Given the description of an element on the screen output the (x, y) to click on. 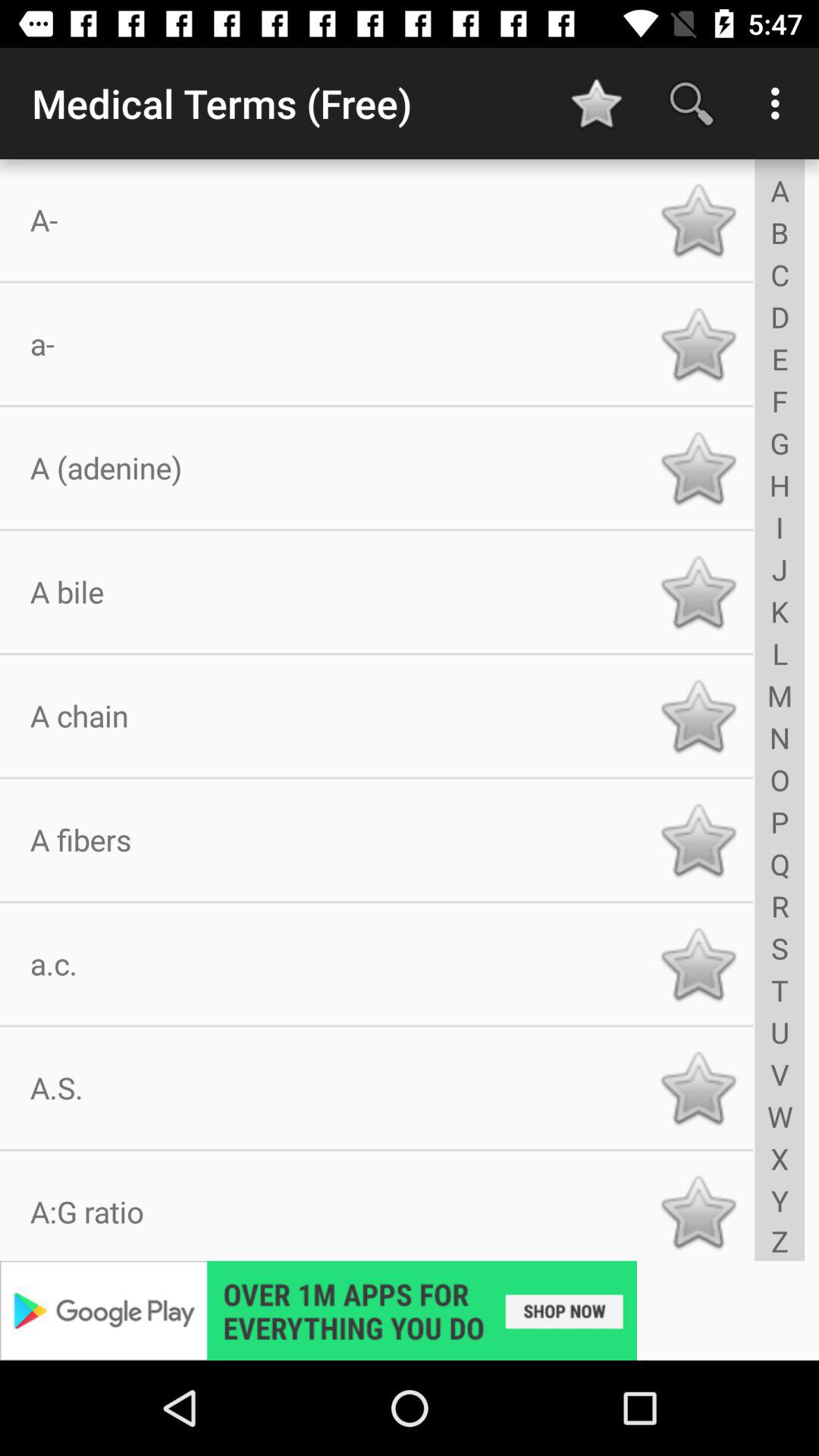
view advert (409, 1310)
